Given the description of an element on the screen output the (x, y) to click on. 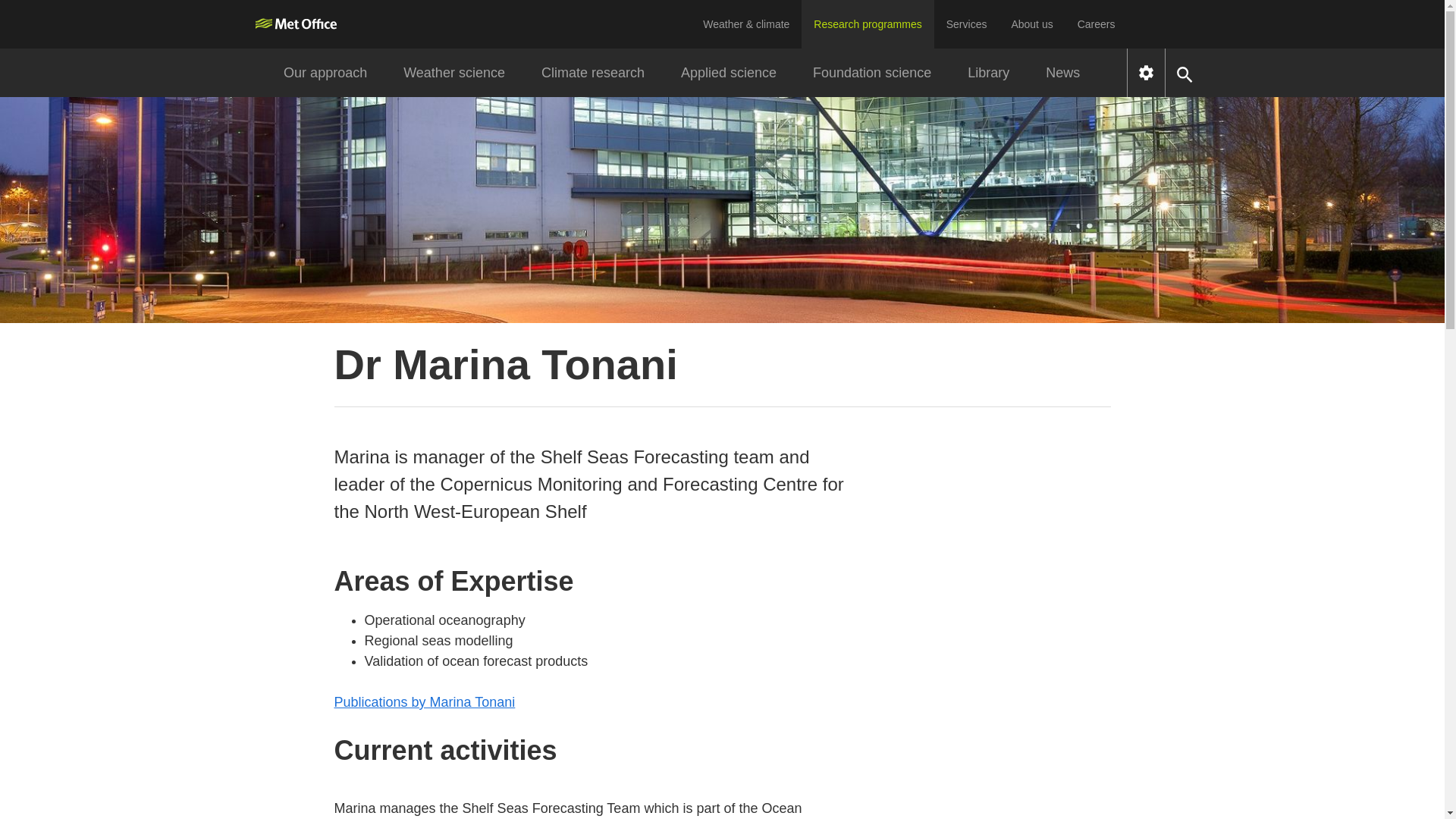
Services (966, 24)
Expand search (1184, 73)
Settings (1145, 72)
About us (1031, 24)
Careers (1095, 24)
Research programmes (867, 24)
